Given the description of an element on the screen output the (x, y) to click on. 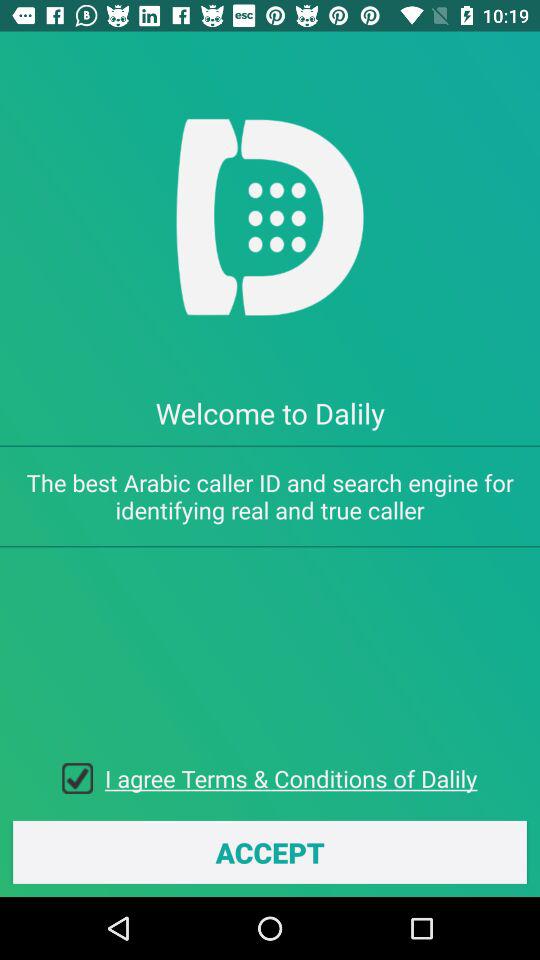
swipe to the i agree terms item (291, 778)
